Given the description of an element on the screen output the (x, y) to click on. 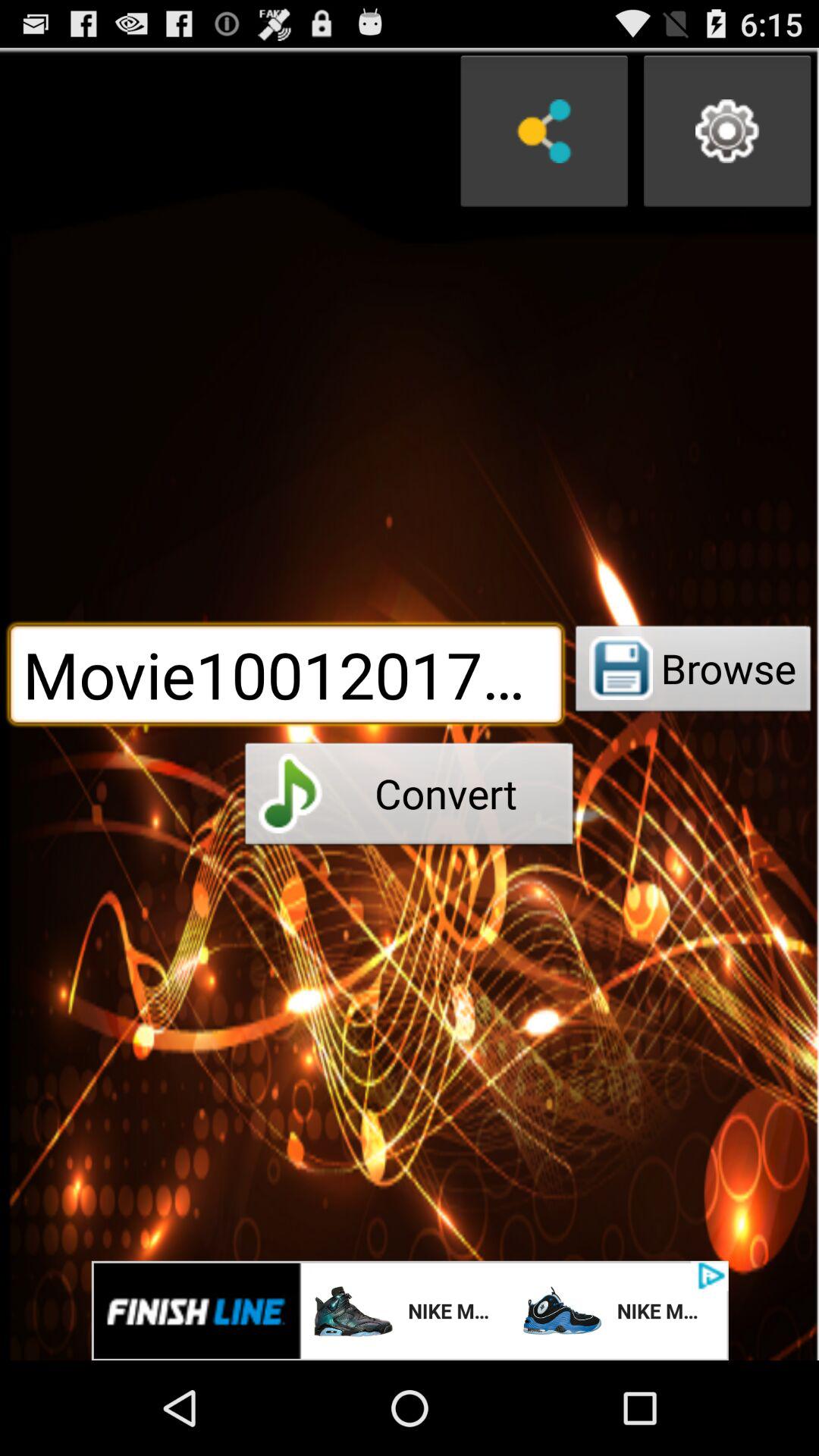
go to share (543, 130)
